Given the description of an element on the screen output the (x, y) to click on. 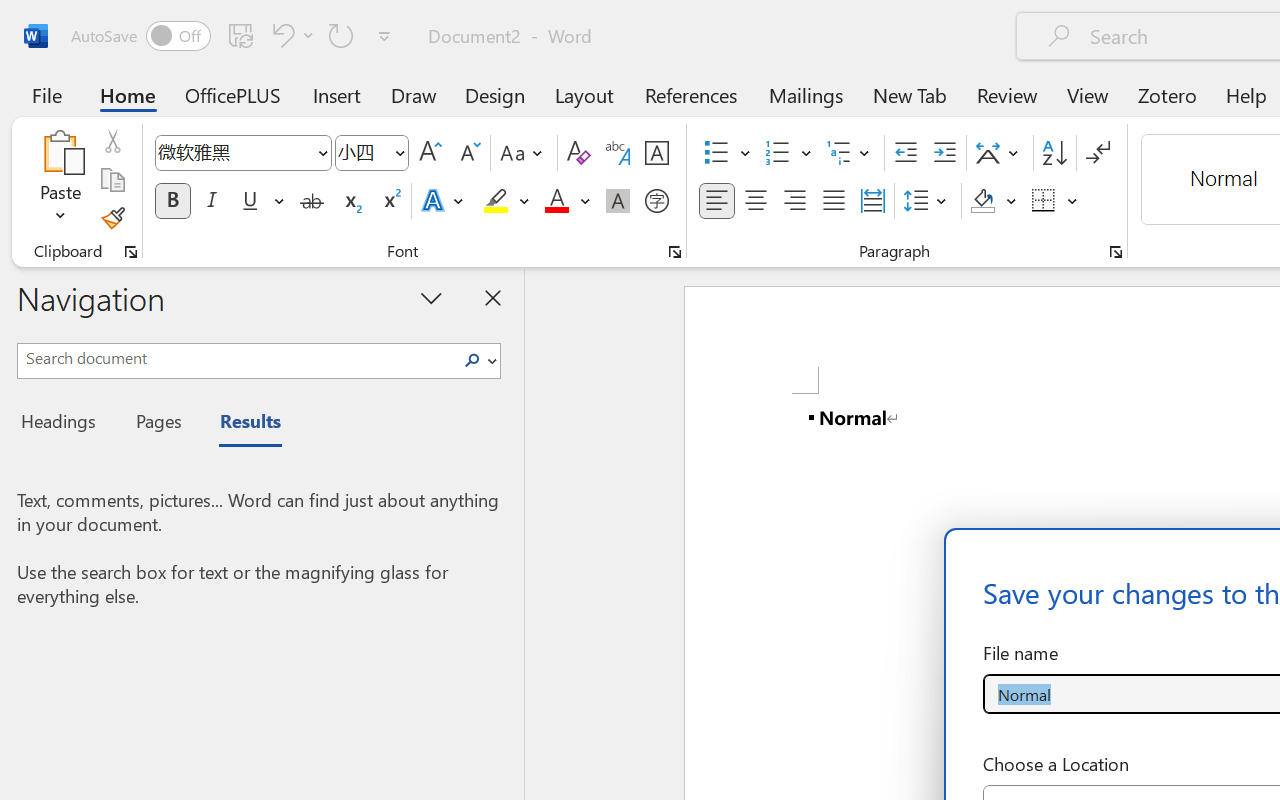
Show/Hide Editing Marks (1098, 153)
Asian Layout (1000, 153)
Copy (112, 179)
Shading (993, 201)
Subscript (350, 201)
Class: NetUIImage (471, 360)
Home (127, 94)
Open (399, 152)
Paste (60, 179)
Underline (250, 201)
Borders (1044, 201)
Undo <ApplyStyleToDoc>b__0 (280, 35)
Italic (212, 201)
Text Highlight Color Yellow (495, 201)
